Given the description of an element on the screen output the (x, y) to click on. 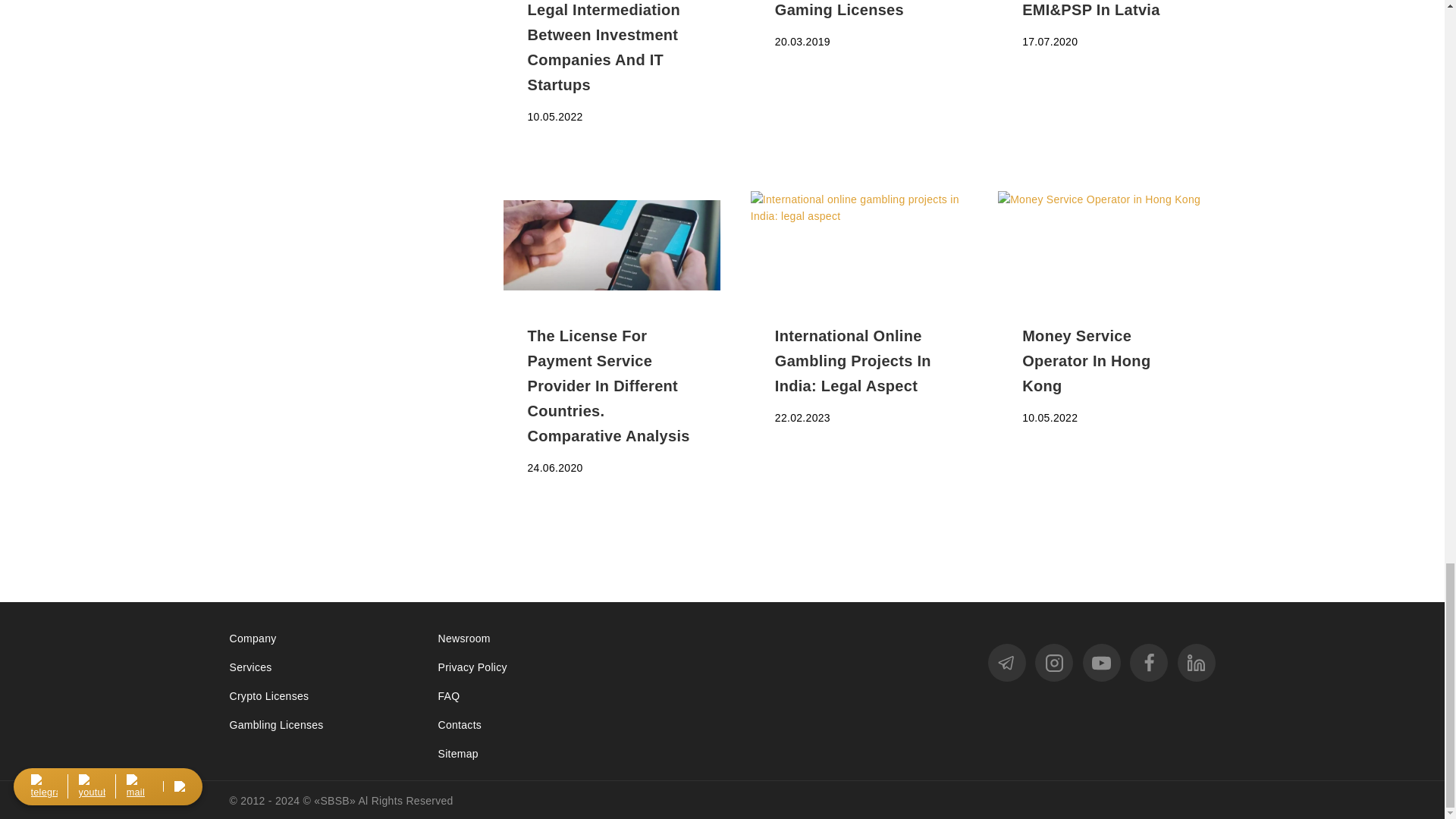
Money Service Operator in Hong Kong (1105, 244)
